Given the description of an element on the screen output the (x, y) to click on. 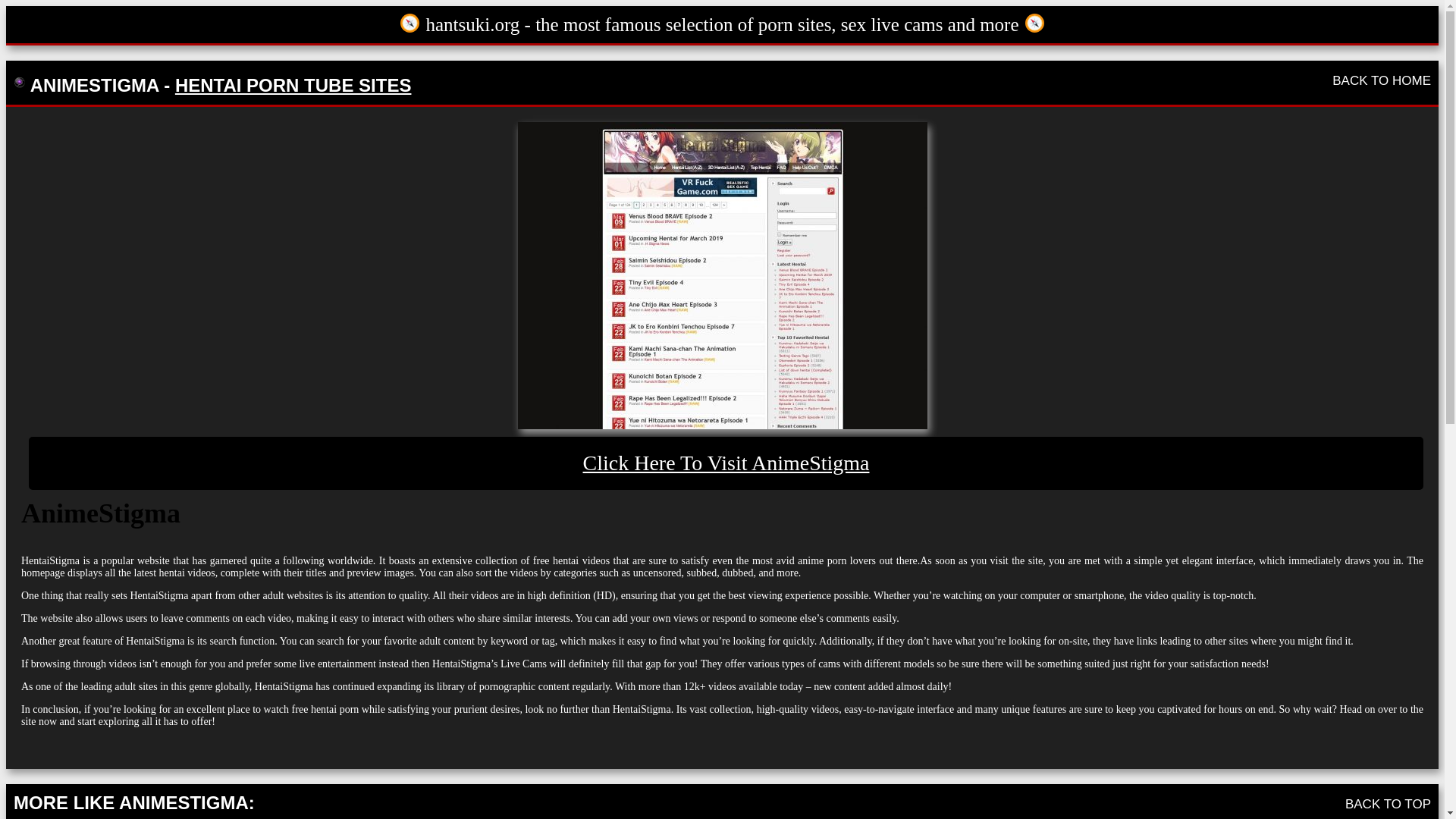
BACK TO HOME (1381, 79)
Click Here To Visit AnimeStigma (726, 462)
AnimeStigma (721, 274)
BACK TO TOP (1388, 803)
HENTAI PORN TUBE SITES (293, 84)
AnimeStigma (726, 462)
